Given the description of an element on the screen output the (x, y) to click on. 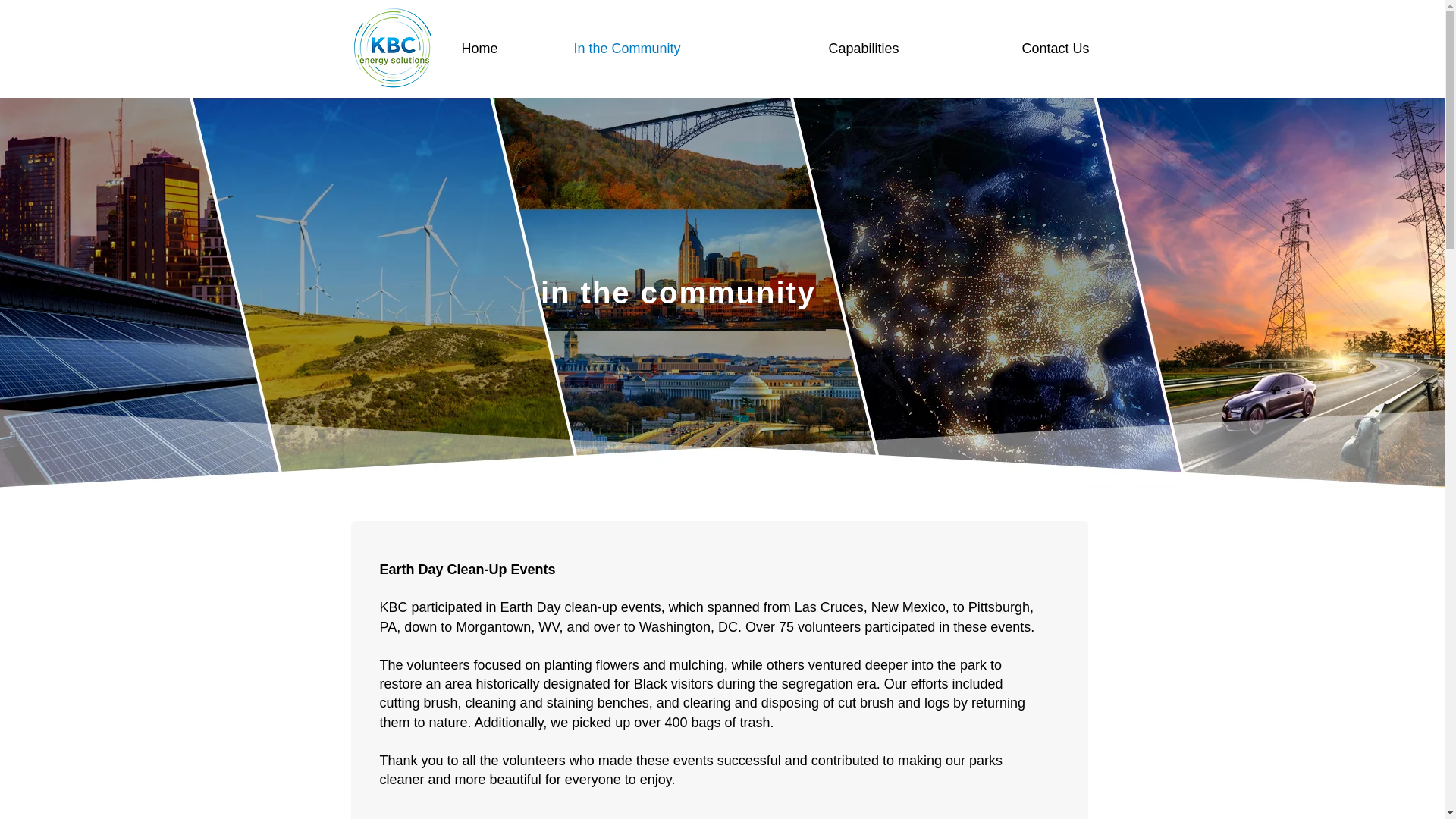
Contact Us (1101, 48)
In the Community (689, 48)
Home (505, 48)
Capabilities (913, 48)
